Given the description of an element on the screen output the (x, y) to click on. 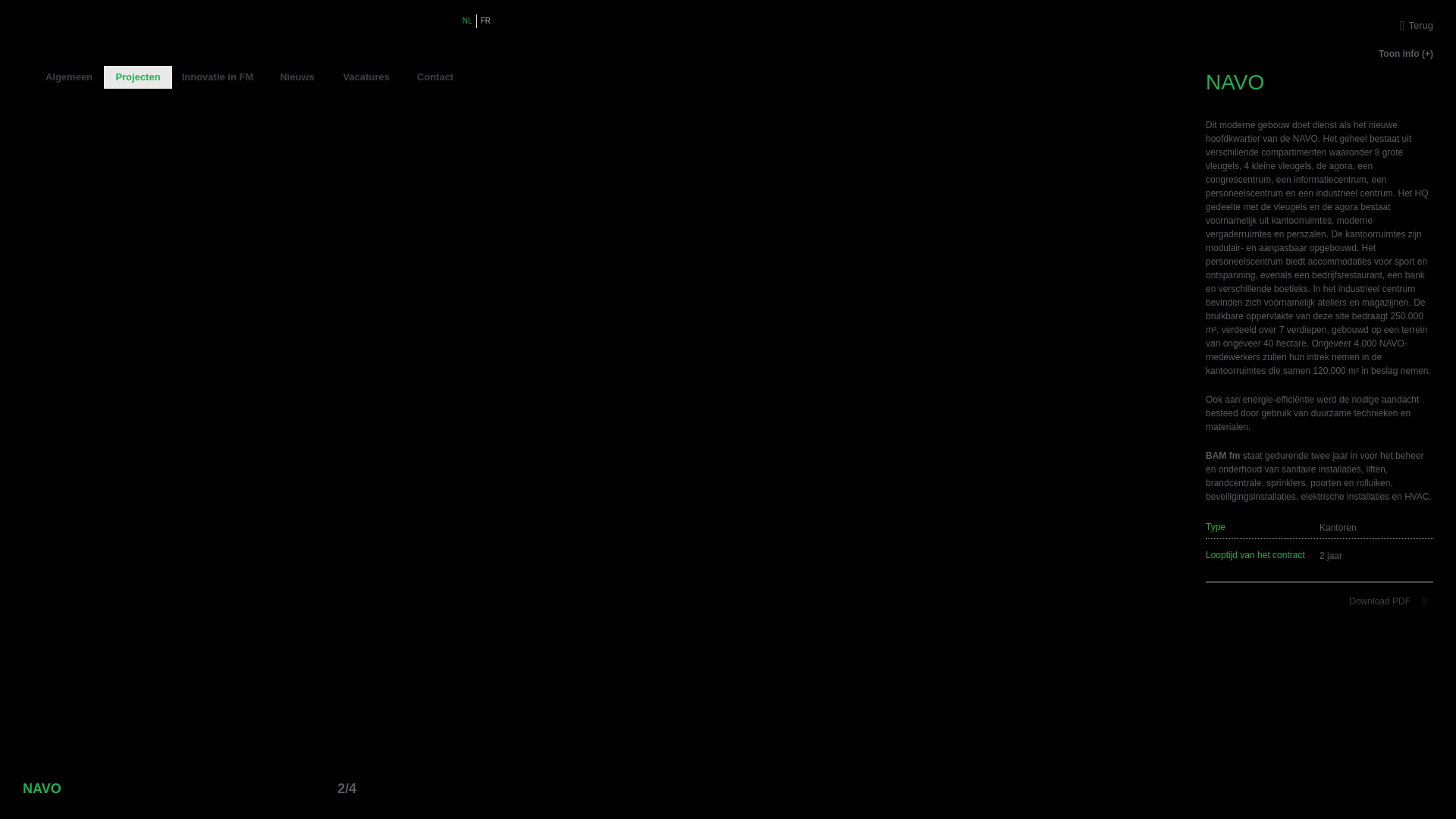
Terug Element type: text (1319, 25)
BAM fm nv Element type: text (253, 37)
Volgende Element type: text (364, 788)
Vacatures Element type: text (366, 76)
Vorige Element type: text (328, 788)
Zoek Element type: text (482, 76)
Nieuws Element type: text (297, 76)
Innovatie in FM Element type: text (217, 76)
Algemeen Element type: text (68, 76)
Toon info (+) Element type: text (1319, 53)
Home Element type: text (22, 76)
FR Element type: text (485, 21)
Download PDF Element type: text (1391, 601)
Contact Element type: text (435, 76)
Projecten Element type: text (137, 76)
NL Element type: text (467, 21)
Toon thumbnails Element type: text (304, 787)
